Given the description of an element on the screen output the (x, y) to click on. 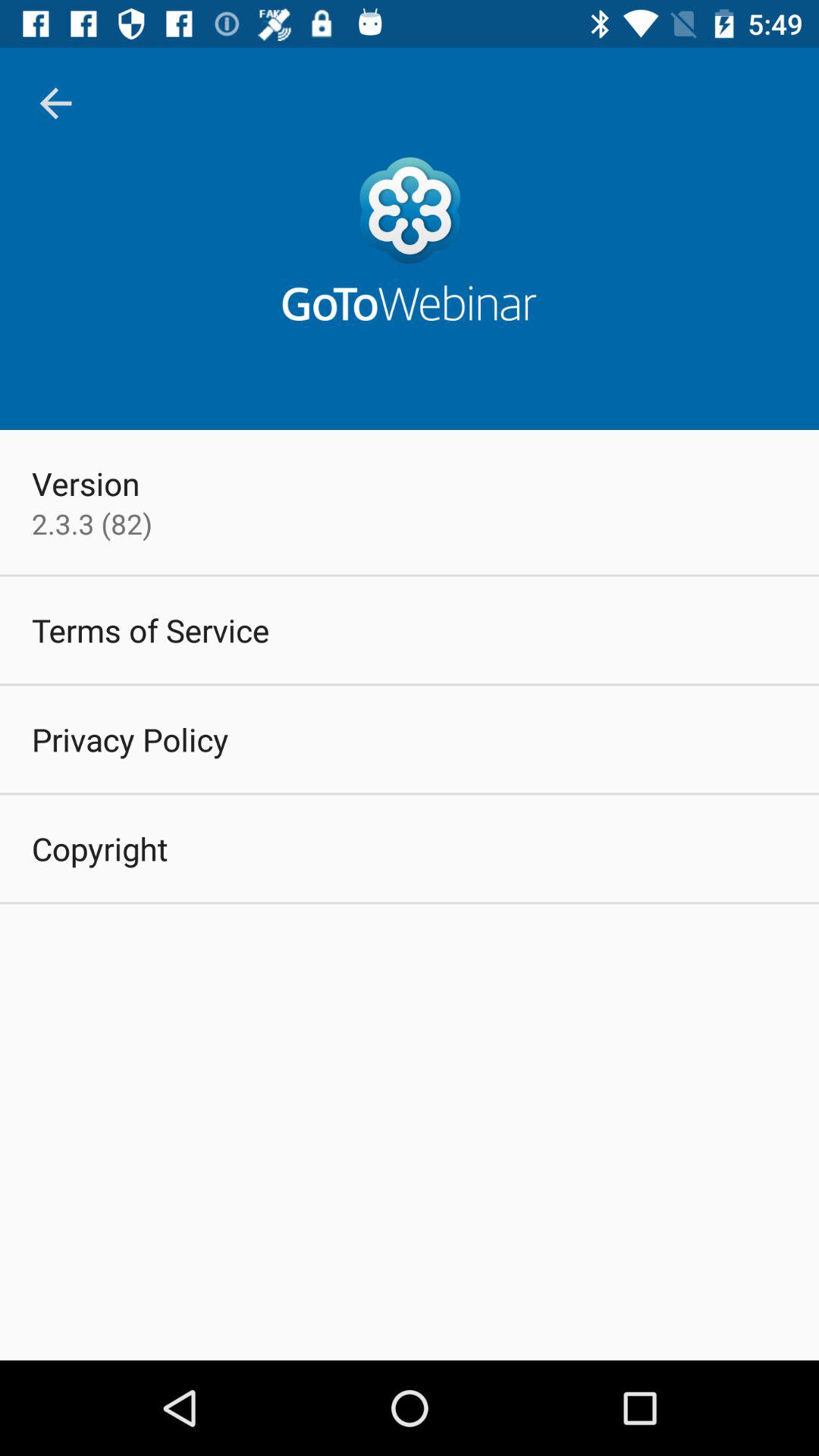
click item above the terms of service item (91, 523)
